Given the description of an element on the screen output the (x, y) to click on. 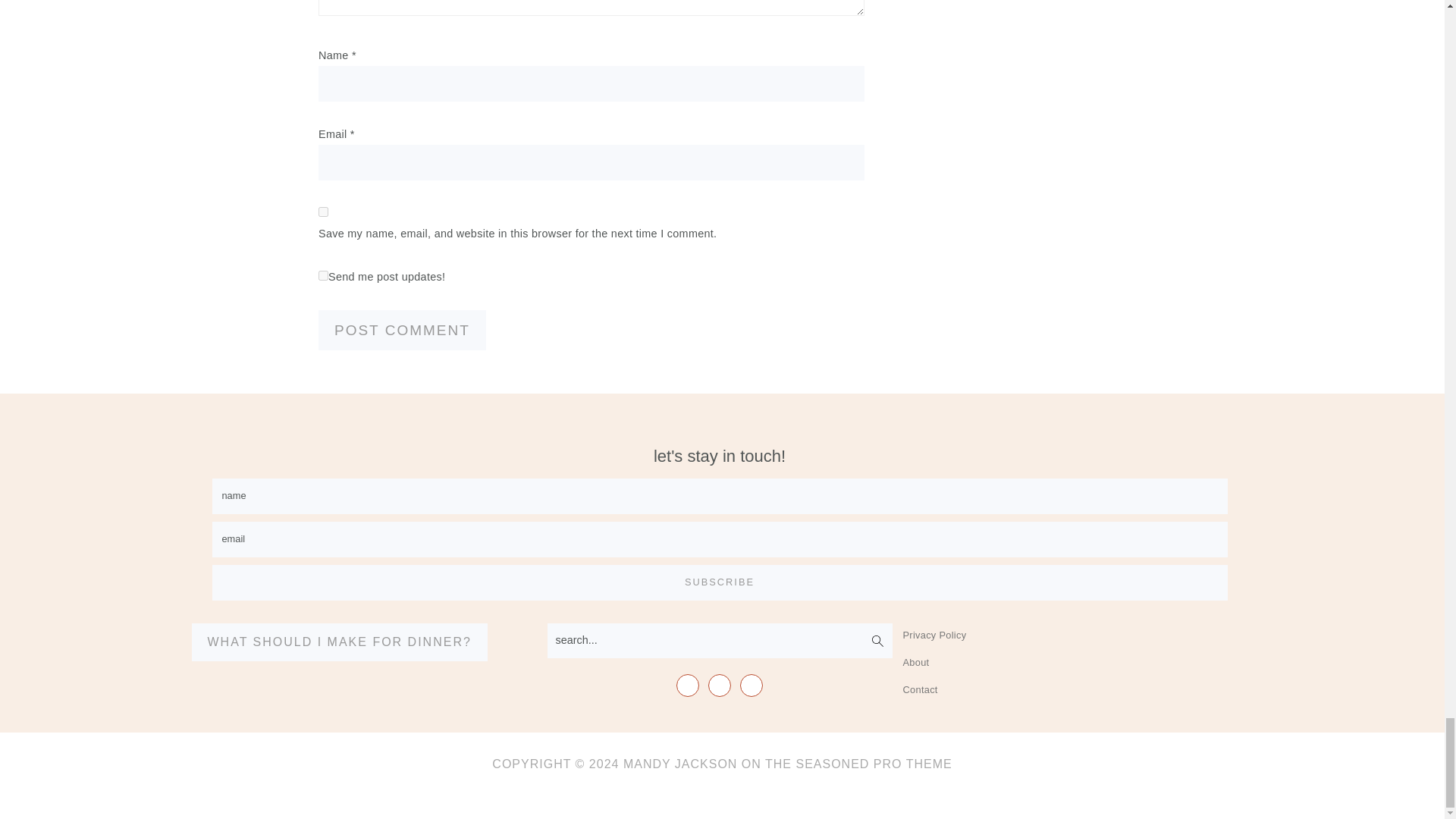
1 (323, 275)
subscribe (719, 582)
yes (323, 212)
Post Comment (402, 330)
